Given the description of an element on the screen output the (x, y) to click on. 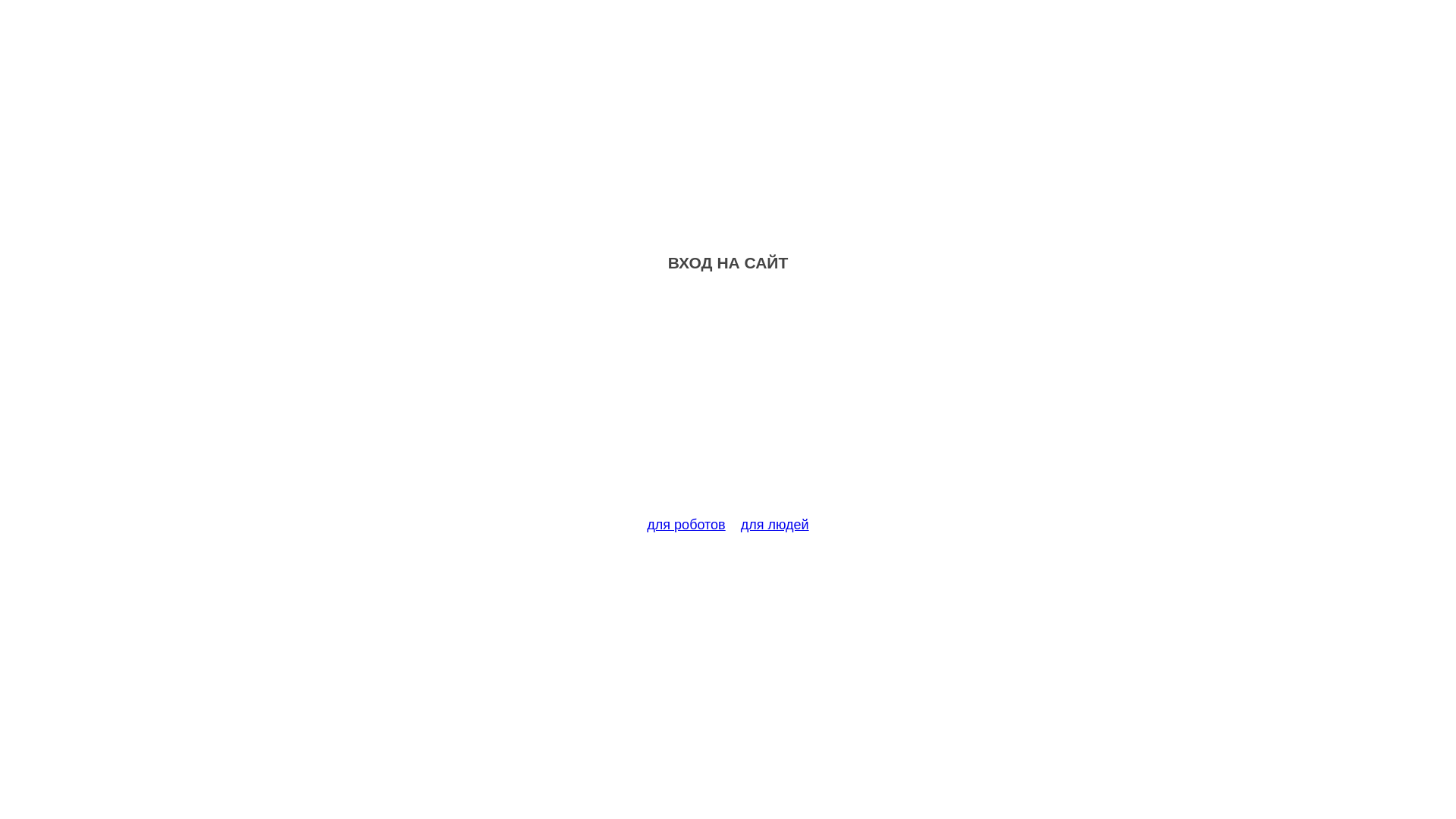
Advertisement Element type: hover (727, 403)
